Given the description of an element on the screen output the (x, y) to click on. 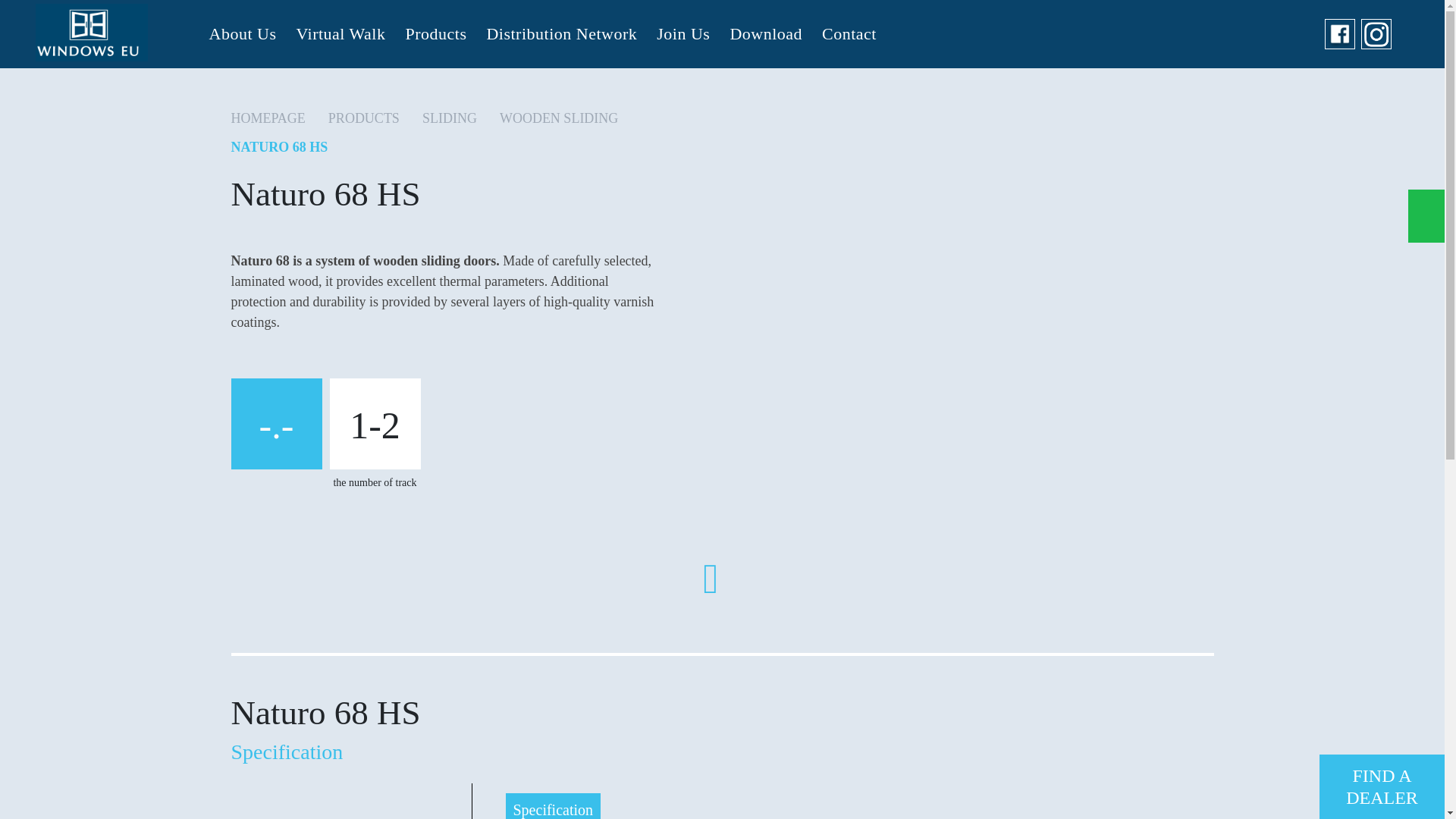
Distribution Network (561, 33)
Join Us (682, 33)
Products (435, 33)
Download (765, 33)
Virtual Walk (339, 33)
Contact (849, 33)
About Us (241, 33)
